Given the description of an element on the screen output the (x, y) to click on. 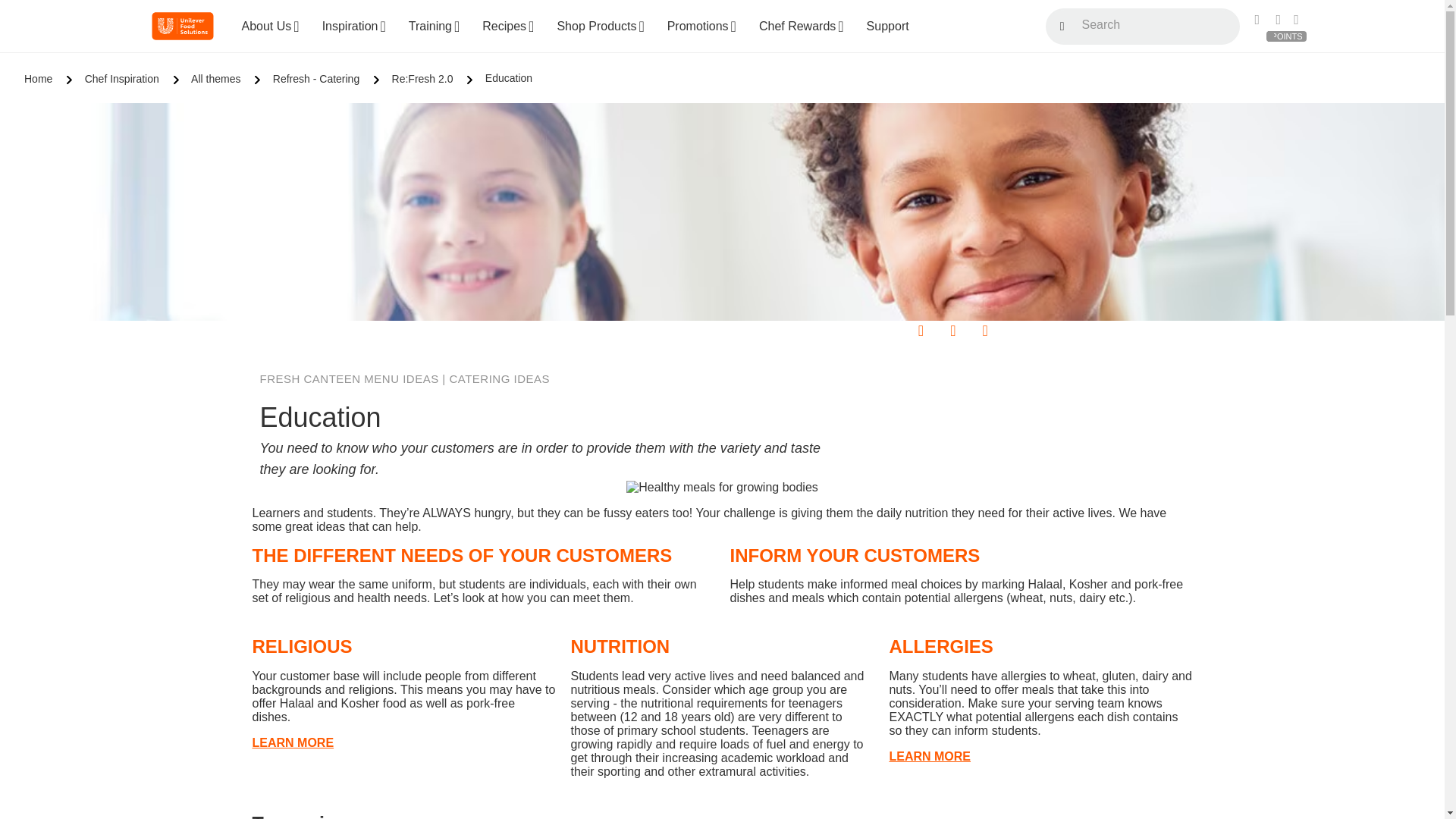
About Us (269, 26)
About Us (269, 26)
Inspiration (353, 26)
Inspiration (353, 26)
